Given the description of an element on the screen output the (x, y) to click on. 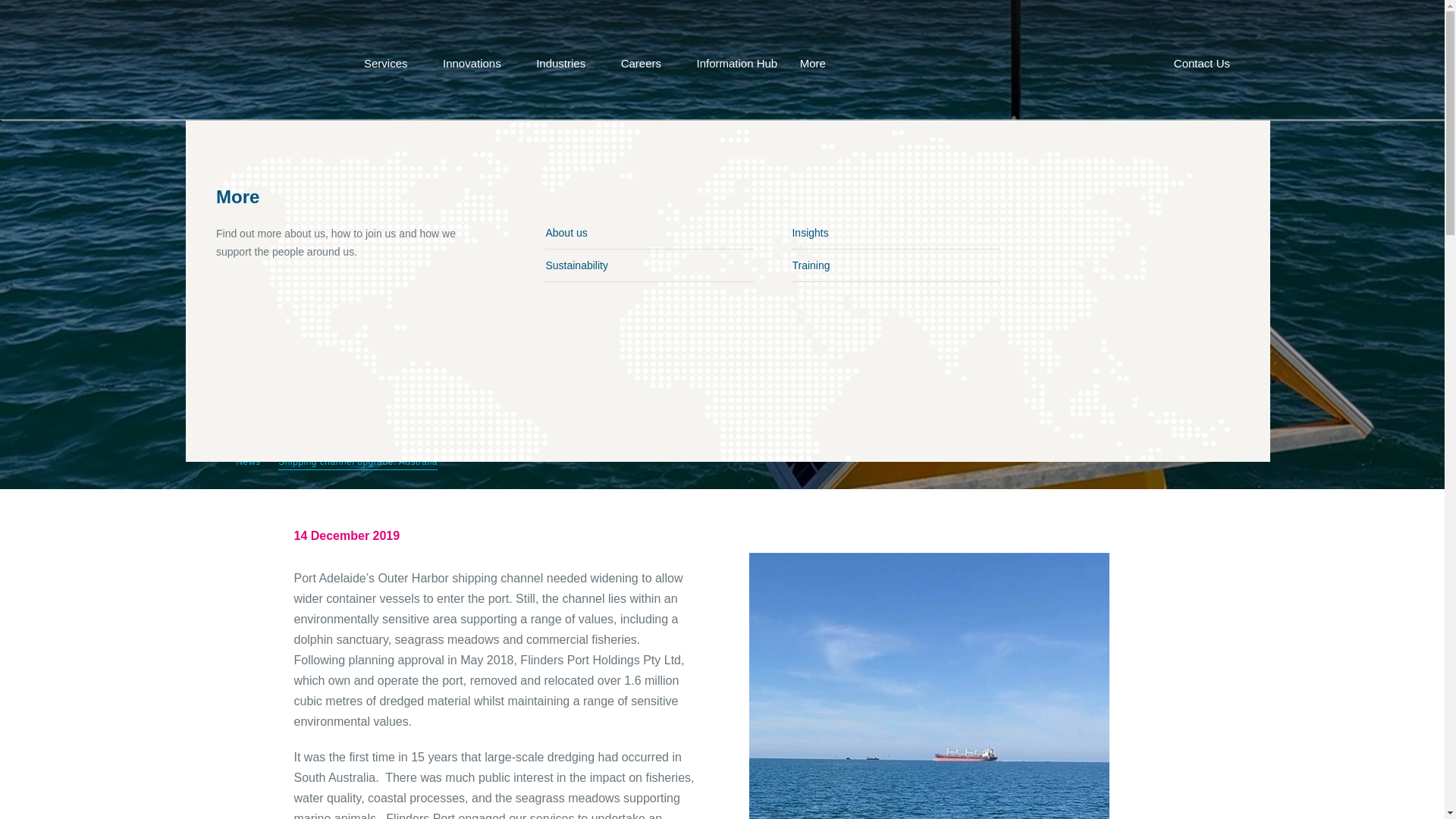
- Digital Twins - (607, 330)
Information Hub (736, 62)
Shipyards and boat builders (627, 330)
BMT MATE (772, 265)
Our employee priorities (754, 282)
Values (754, 233)
Industries (566, 62)
CargoHandbook (607, 233)
Defence (627, 265)
BMT REMBRANDT (607, 297)
